Given the description of an element on the screen output the (x, y) to click on. 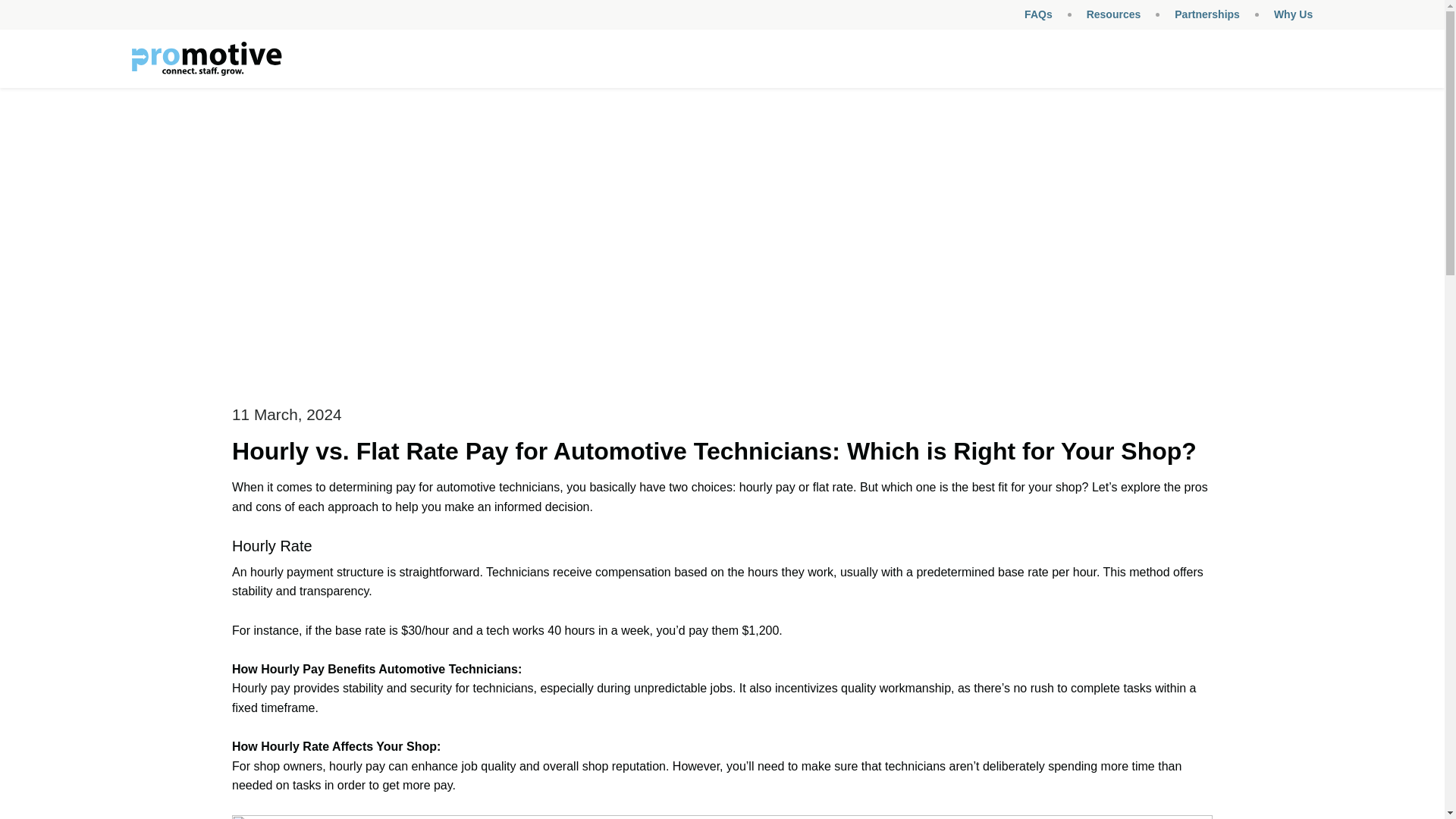
FAQs (1038, 14)
Why Us (1293, 14)
Resources (1113, 14)
Sign In (562, 418)
Partnerships (1207, 14)
